Given the description of an element on the screen output the (x, y) to click on. 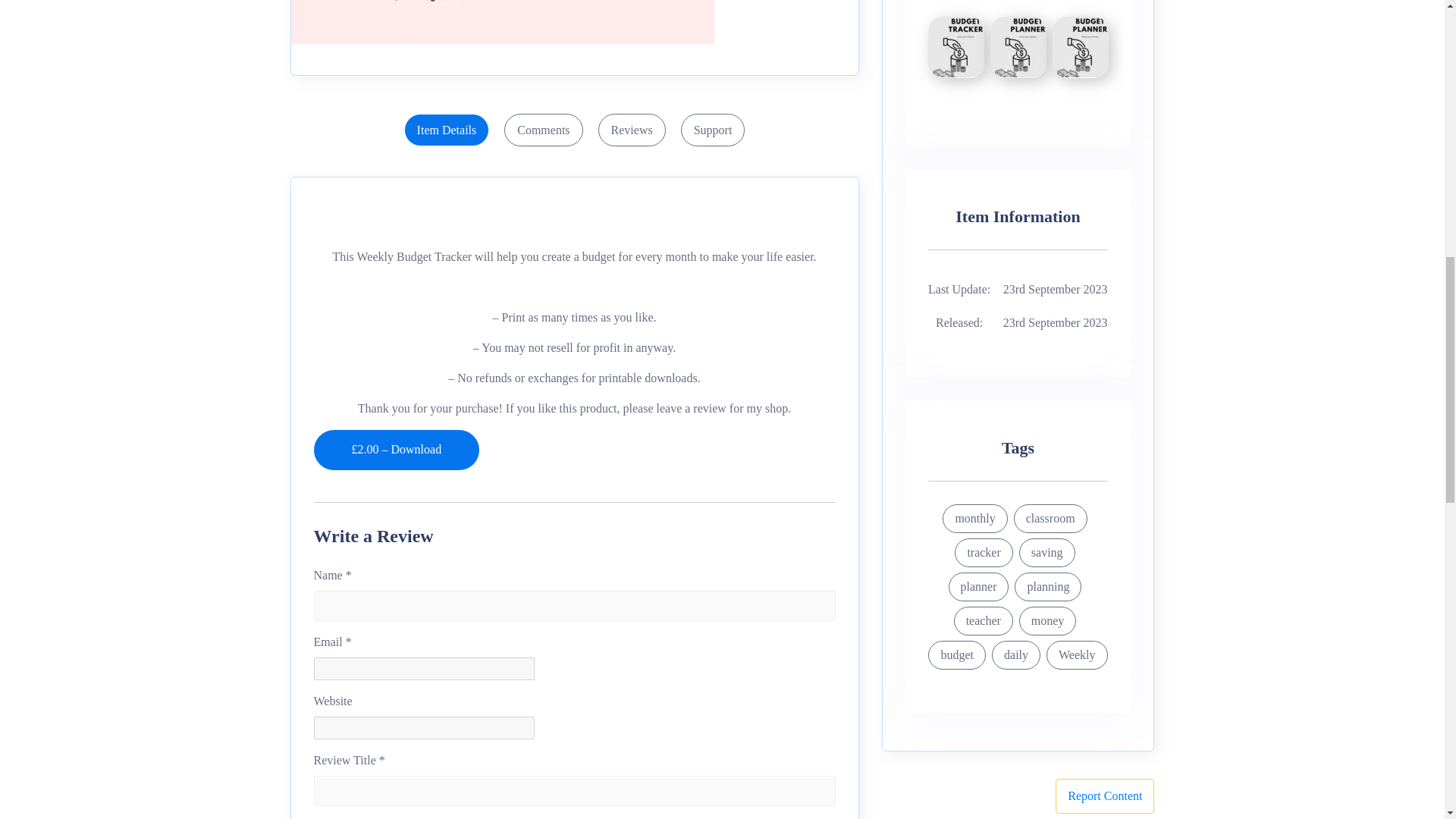
Reviews (631, 129)
Comments (542, 129)
Item Details (446, 129)
Support (713, 129)
